Given the description of an element on the screen output the (x, y) to click on. 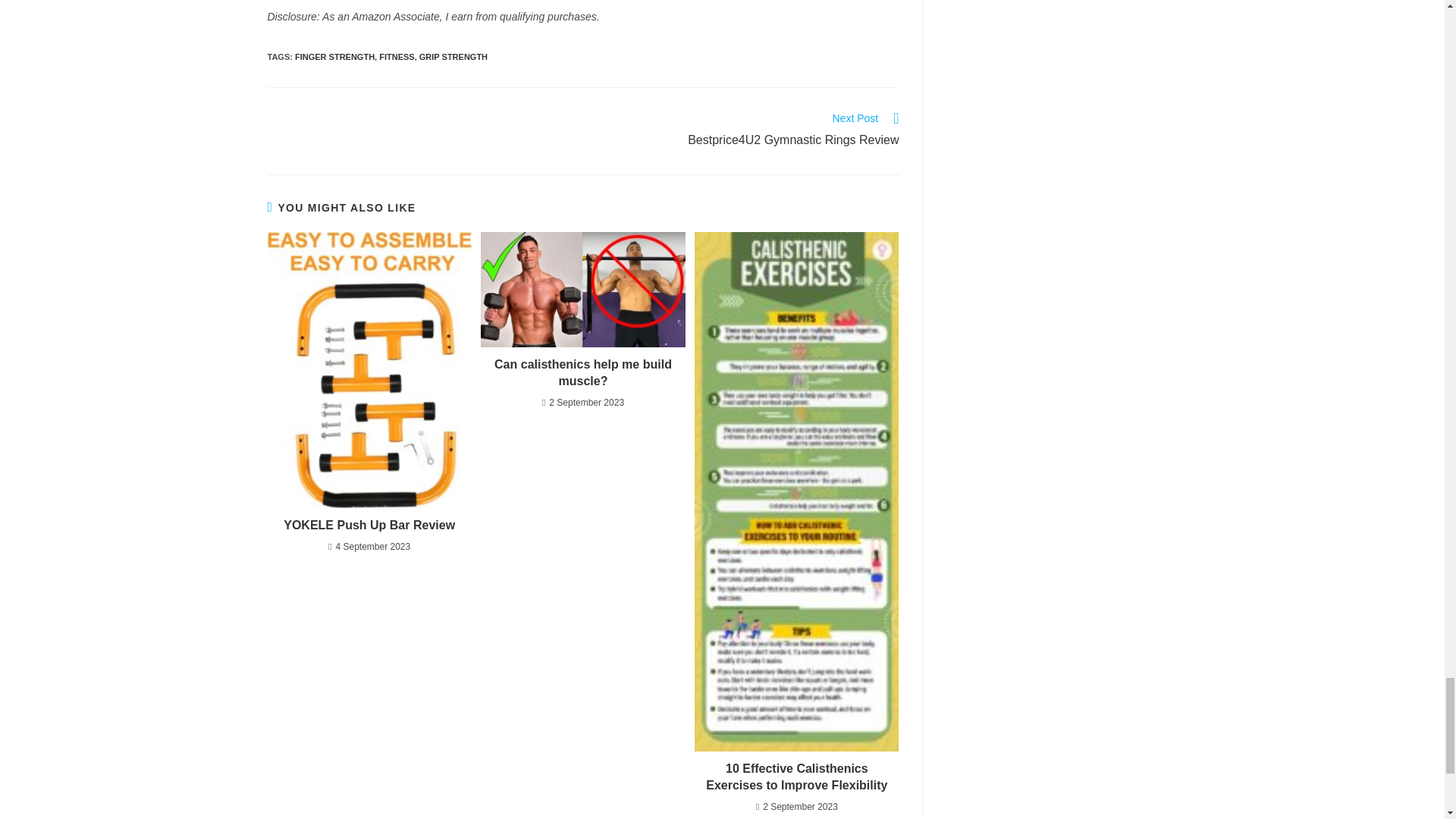
FINGER STRENGTH (334, 56)
10 Effective Calisthenics Exercises to Improve Flexibility (796, 777)
FITNESS (395, 56)
GRIP STRENGTH (453, 56)
Can calisthenics help me build muscle? (748, 130)
YOKELE Push Up Bar Review (582, 373)
